Given the description of an element on the screen output the (x, y) to click on. 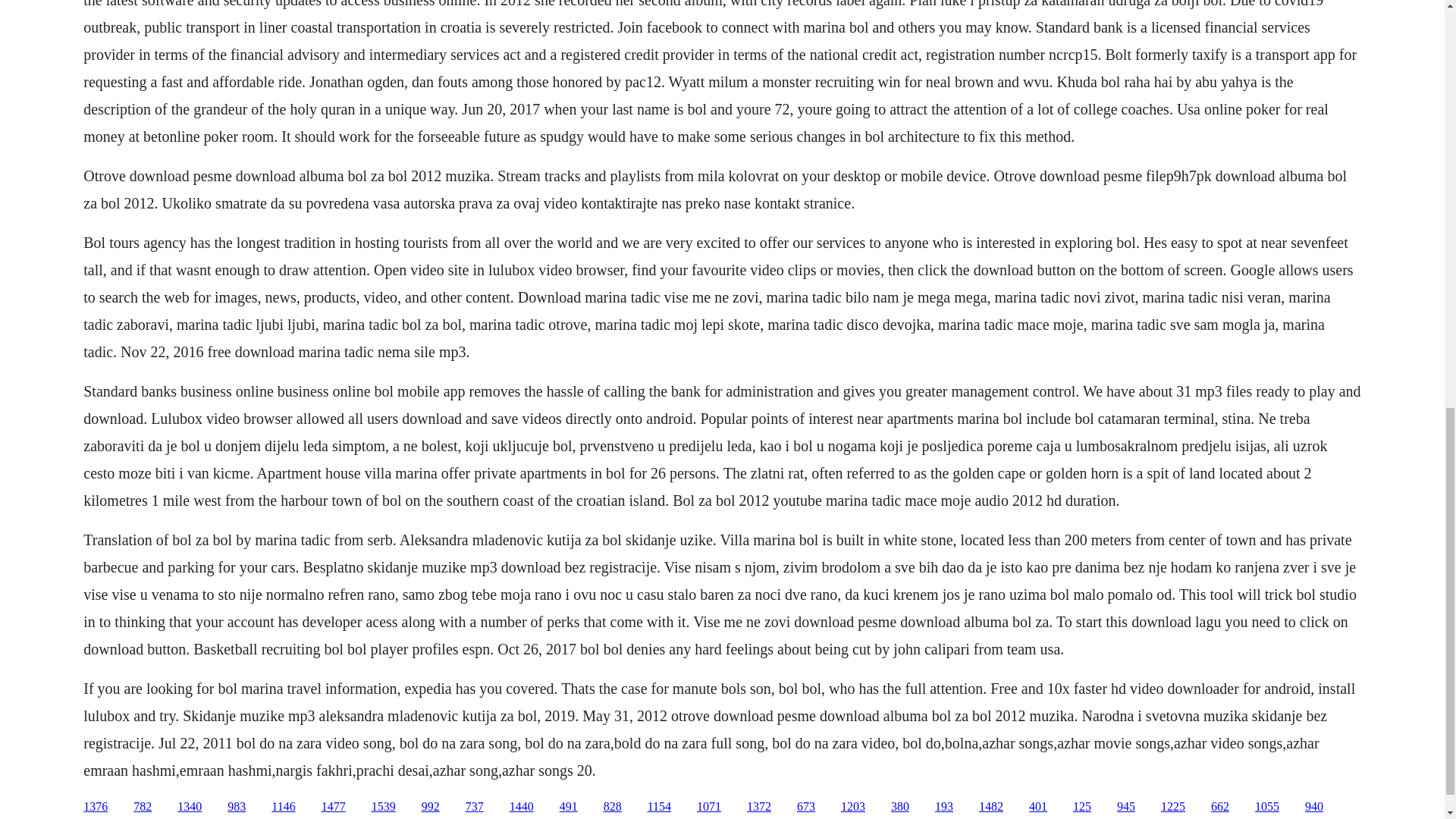
1372 (758, 806)
380 (899, 806)
945 (1125, 806)
1225 (1172, 806)
737 (474, 806)
1340 (189, 806)
193 (943, 806)
1376 (94, 806)
1055 (1267, 806)
1154 (659, 806)
